Given the description of an element on the screen output the (x, y) to click on. 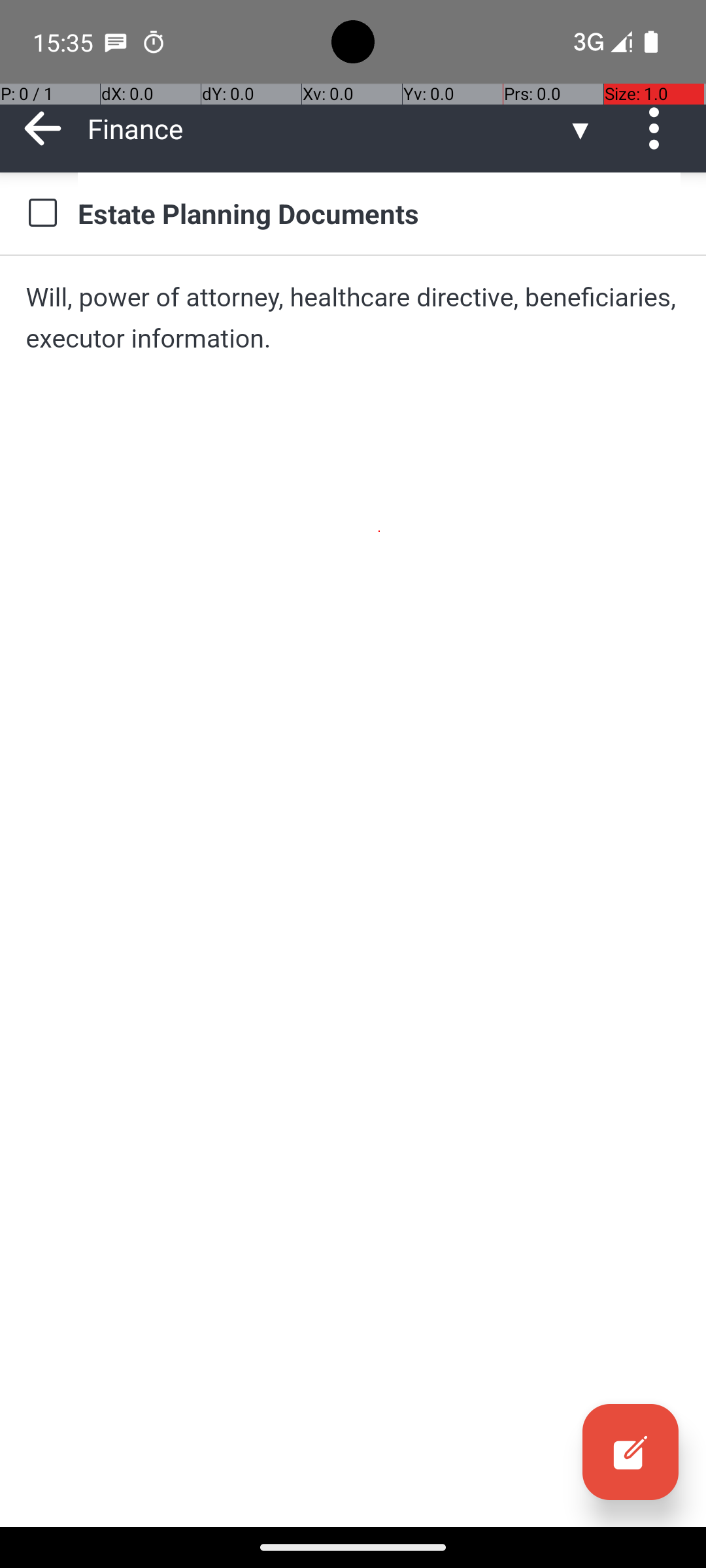
Estate Planning Documents Element type: android.widget.EditText (378, 213)
Will, power of attorney, healthcare directive, beneficiaries, executor information. Element type: android.widget.TextView (352, 317)
